Given the description of an element on the screen output the (x, y) to click on. 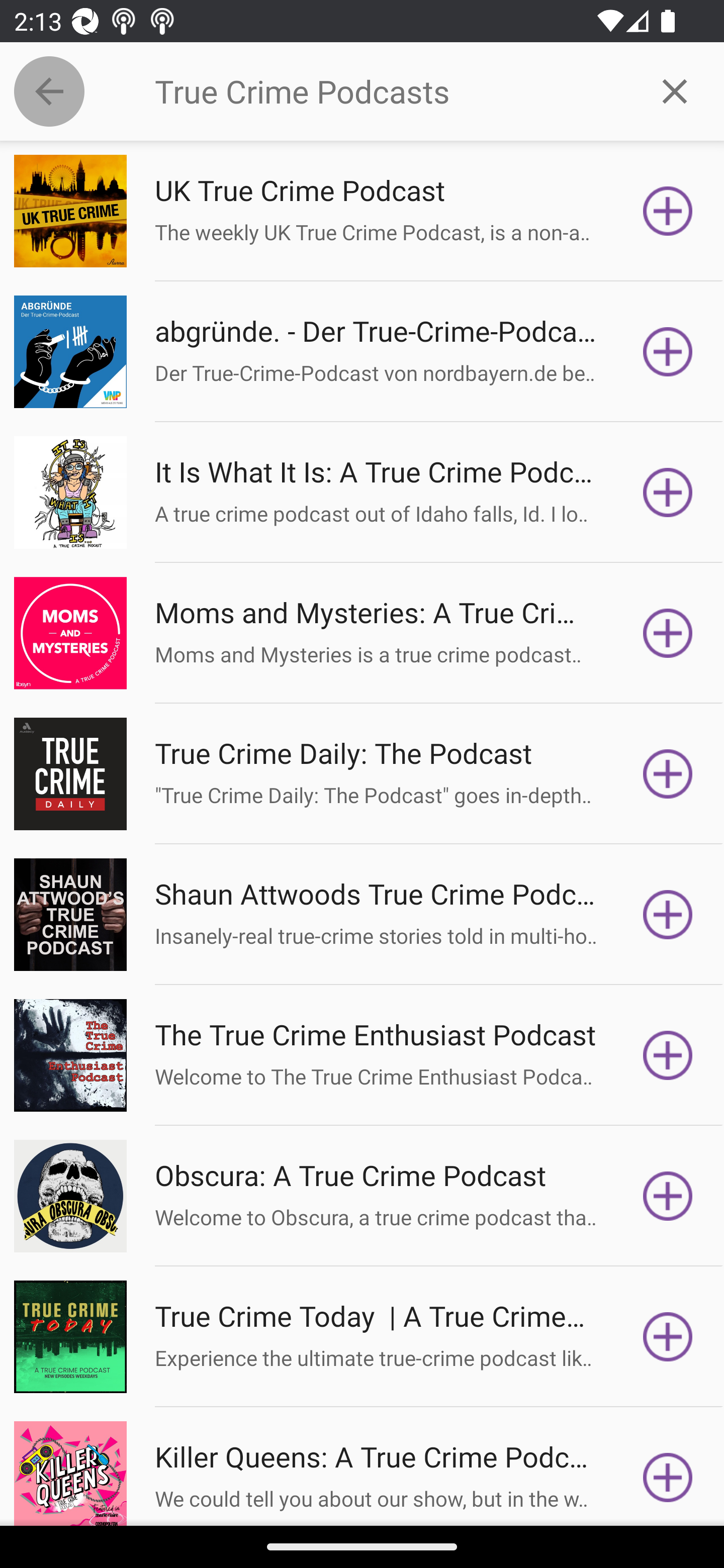
Collapse (49, 91)
Clear query (674, 90)
True Crime Podcasts (389, 91)
Subscribe (667, 211)
Subscribe (667, 350)
Subscribe (667, 491)
Subscribe (667, 633)
Subscribe (667, 773)
Subscribe (667, 913)
Subscribe (667, 1054)
Subscribe (667, 1195)
Subscribe (667, 1336)
Subscribe (667, 1472)
